Given the description of an element on the screen output the (x, y) to click on. 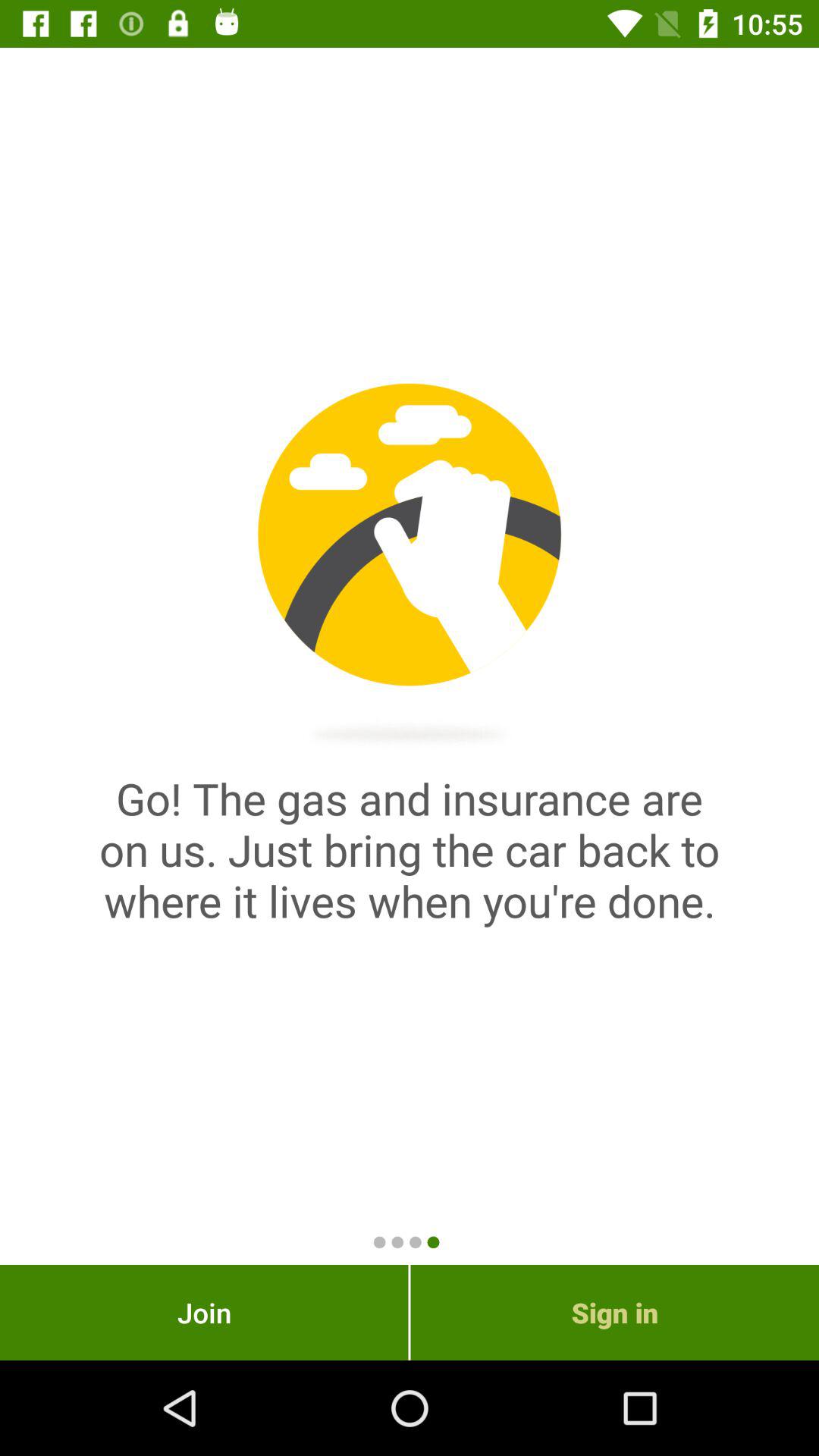
press icon to the right of join (614, 1312)
